Given the description of an element on the screen output the (x, y) to click on. 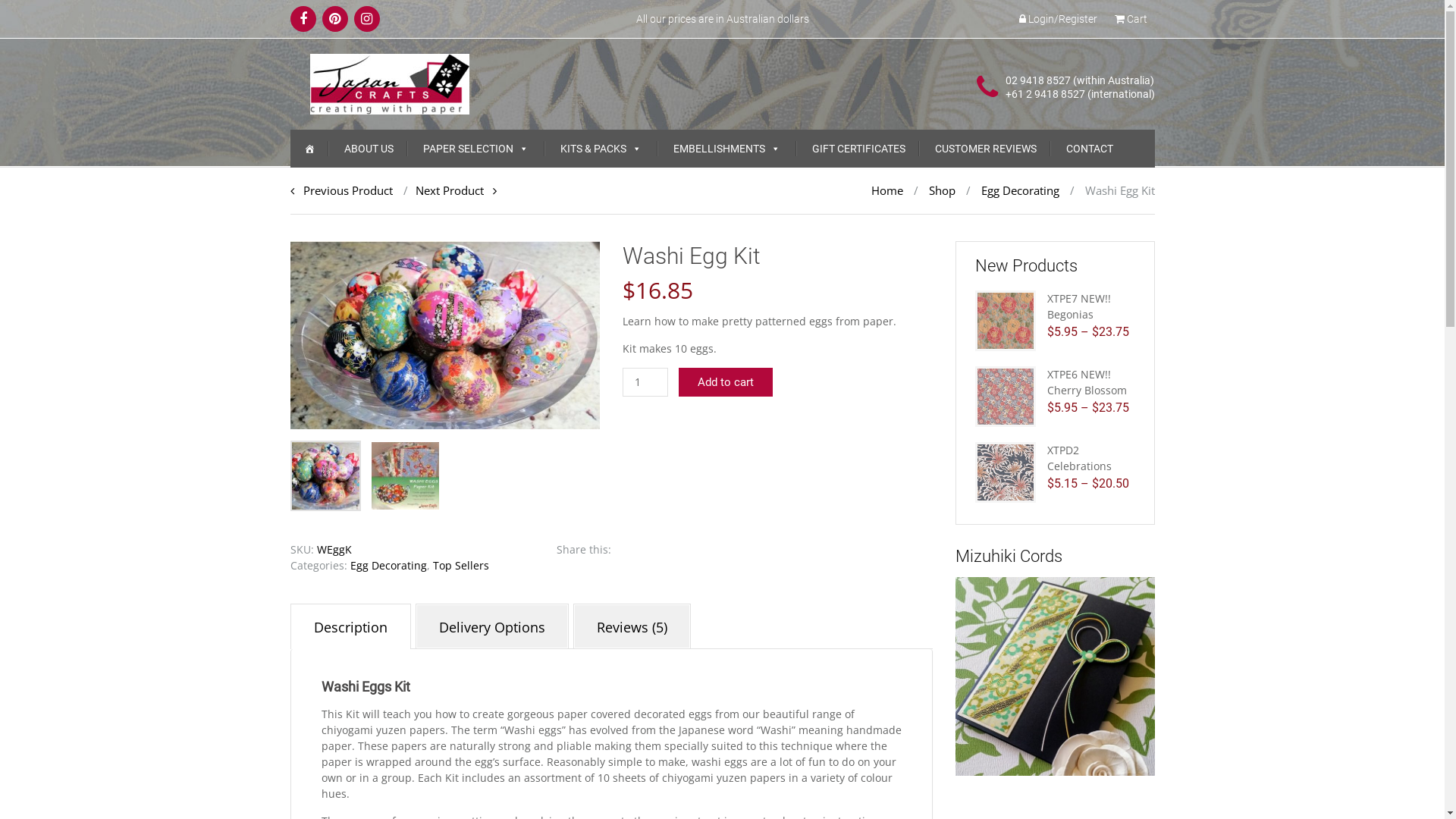
XTPE7 NEW!!<br>Begonias Element type: hover (1005, 319)
Cart Element type: text (1130, 18)
XTPE7 NEW!!
Begonias Element type: text (1078, 306)
XTPD2
Celebrations Element type: text (1079, 457)
Skip to content Element type: text (289, 128)
Next Product    Element type: text (445, 189)
Skip to content Element type: text (302, 18)
Egg Decorating Element type: text (388, 565)
Login/Register Element type: text (1058, 18)
XTPE6 NEW!!
Cherry Blossom Element type: text (1086, 382)
XTPE6 NEW!!<br>Cherry Blossom Element type: hover (1005, 395)
GIFT CERTIFICATES Element type: text (857, 148)
CUSTOMER REVIEWS Element type: text (984, 148)
PAPER SELECTION Element type: text (475, 148)
Shop Element type: text (941, 189)
CONTACT Element type: text (1089, 148)
Qty Element type: hover (645, 381)
Description Element type: text (350, 626)
ABOUT US Element type: text (368, 148)
Add to cart Element type: text (725, 381)
XTPD2<br> Celebrations Element type: hover (1005, 471)
Reviews (5) Element type: text (630, 626)
   Previous Product Element type: text (340, 189)
Egg Decorating Element type: text (1020, 189)
EMBELLISHMENTS Element type: text (726, 148)
KITS & PACKS Element type: text (600, 148)
Japan Crafts Element type: hover (389, 83)
Top Sellers Element type: text (460, 565)
Home Element type: text (886, 189)
Delivery Options Element type: text (491, 626)
